Given the description of an element on the screen output the (x, y) to click on. 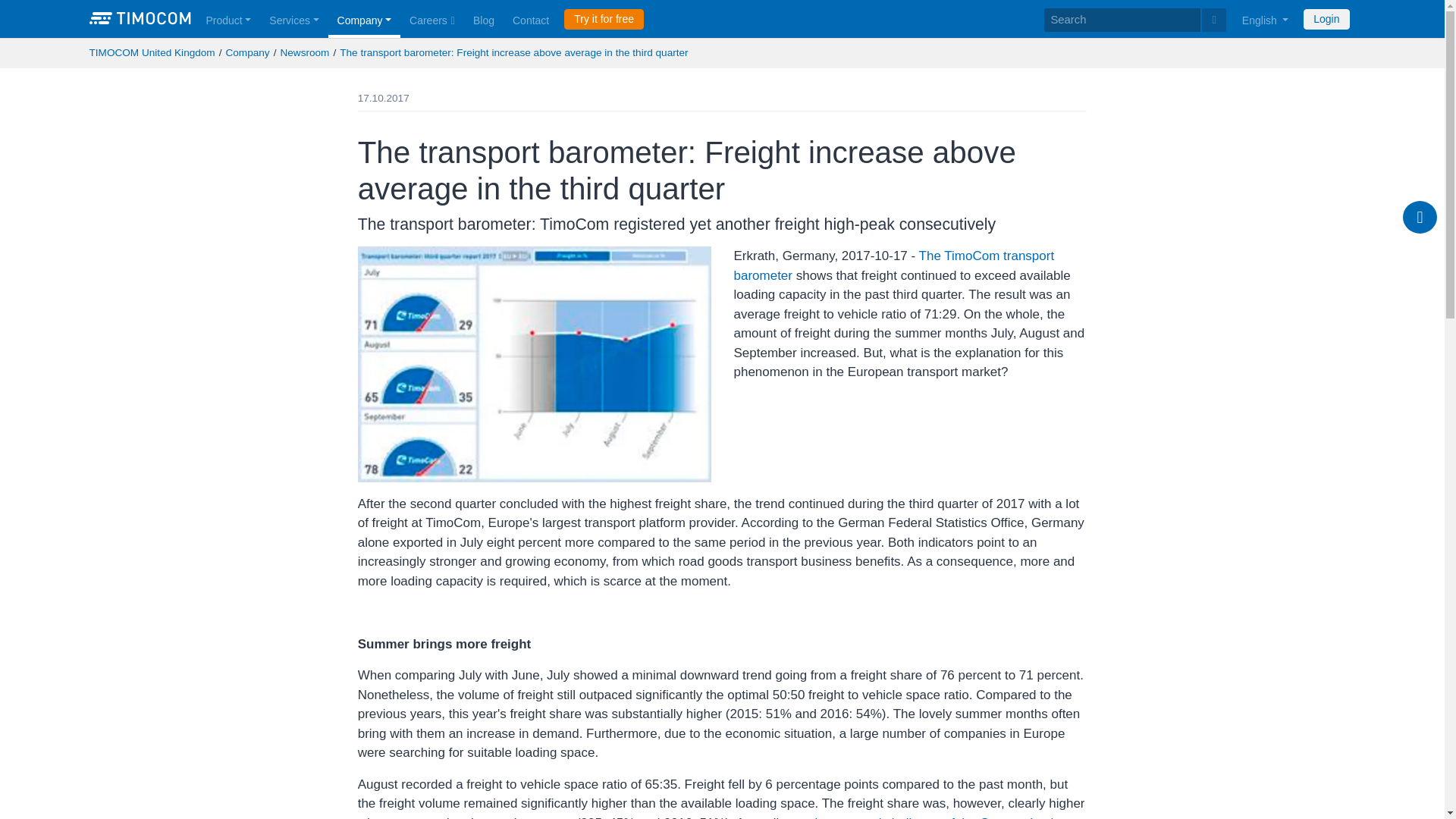
Services (293, 18)
Search (1213, 19)
Product (228, 18)
Company (364, 18)
